Given the description of an element on the screen output the (x, y) to click on. 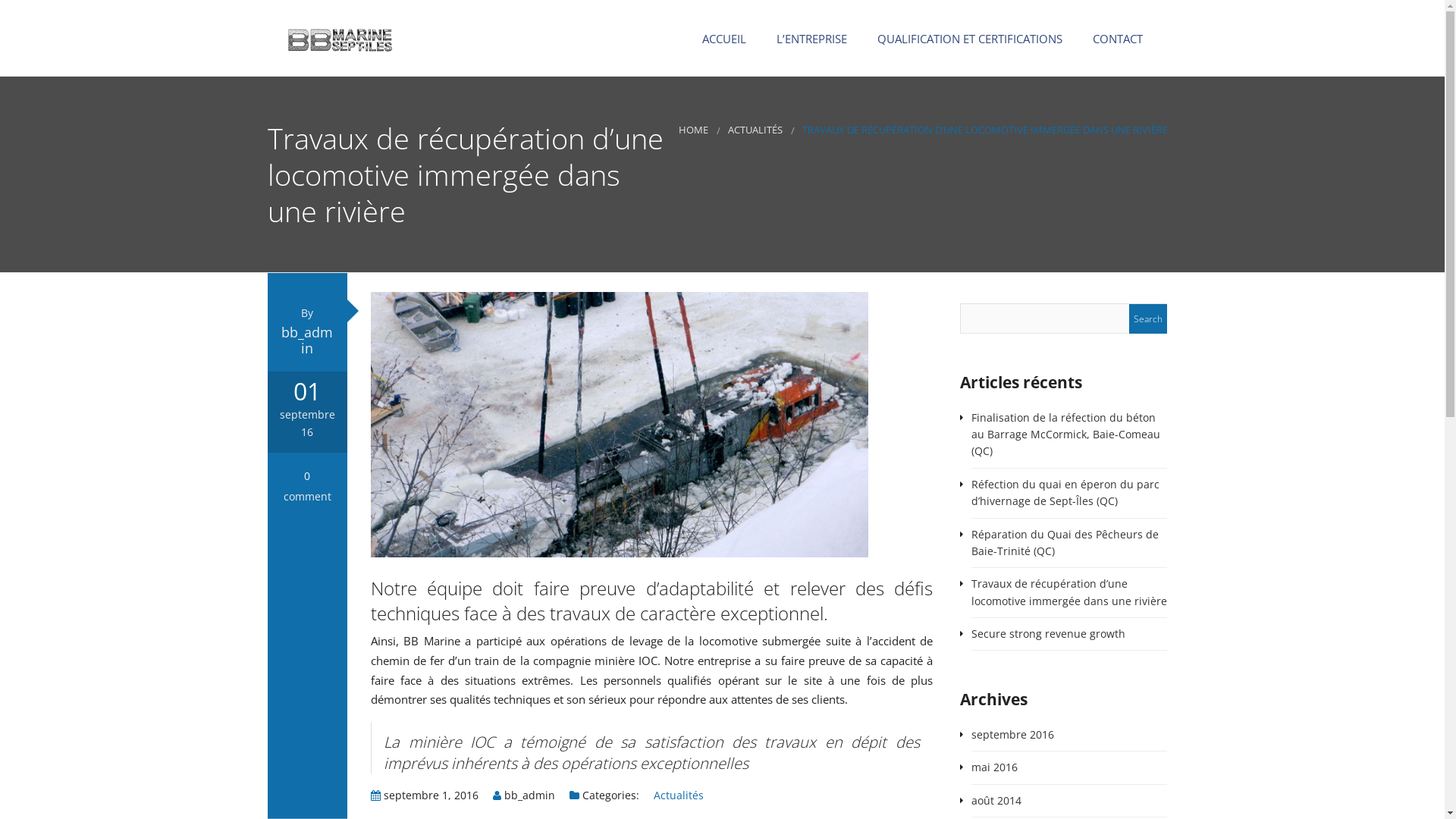
HOME Element type: text (693, 129)
mai 2016 Element type: text (994, 766)
septembre 2016 Element type: text (1012, 734)
Division armature Element type: text (818, 135)
CONTACT Element type: text (1113, 38)
Division Maritime Element type: text (818, 106)
QUALIFICATION ET CERTIFICATIONS Element type: text (965, 38)
BB Marine Element type: hover (339, 37)
Secure strong revenue growth Element type: text (1048, 633)
Search Element type: text (1148, 318)
ACCUEIL Element type: text (721, 38)
